Given the description of an element on the screen output the (x, y) to click on. 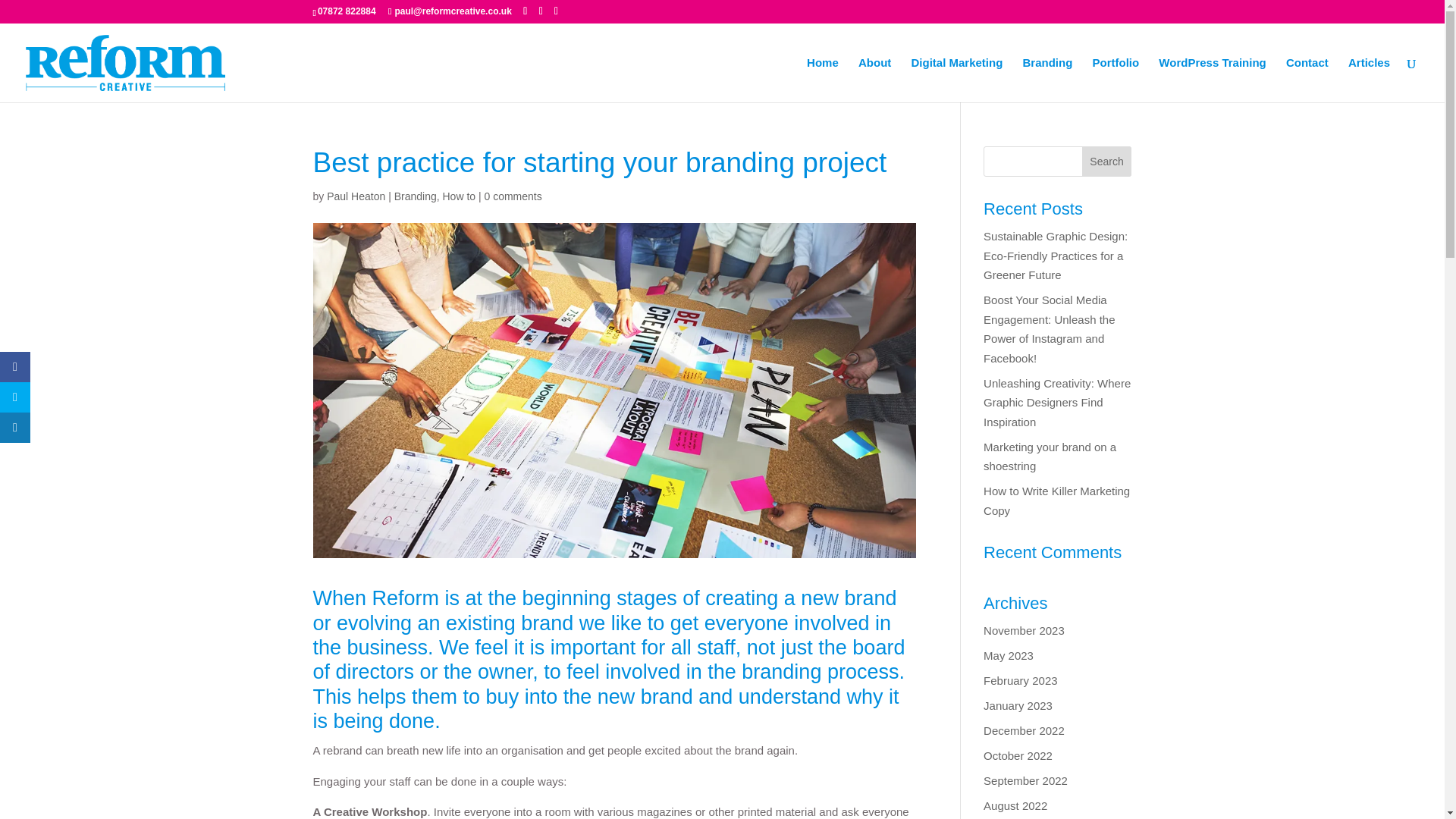
Posts by Paul Heaton (355, 196)
Branding (1046, 79)
Home (822, 79)
0 comments (512, 196)
About (875, 79)
Branding (415, 196)
How to (459, 196)
Portfolio (1116, 79)
Paul Heaton (355, 196)
Search (1106, 161)
Digital Marketing (957, 79)
Articles (1369, 79)
WordPress Training (1211, 79)
Search (1106, 161)
Contact (1306, 79)
